Given the description of an element on the screen output the (x, y) to click on. 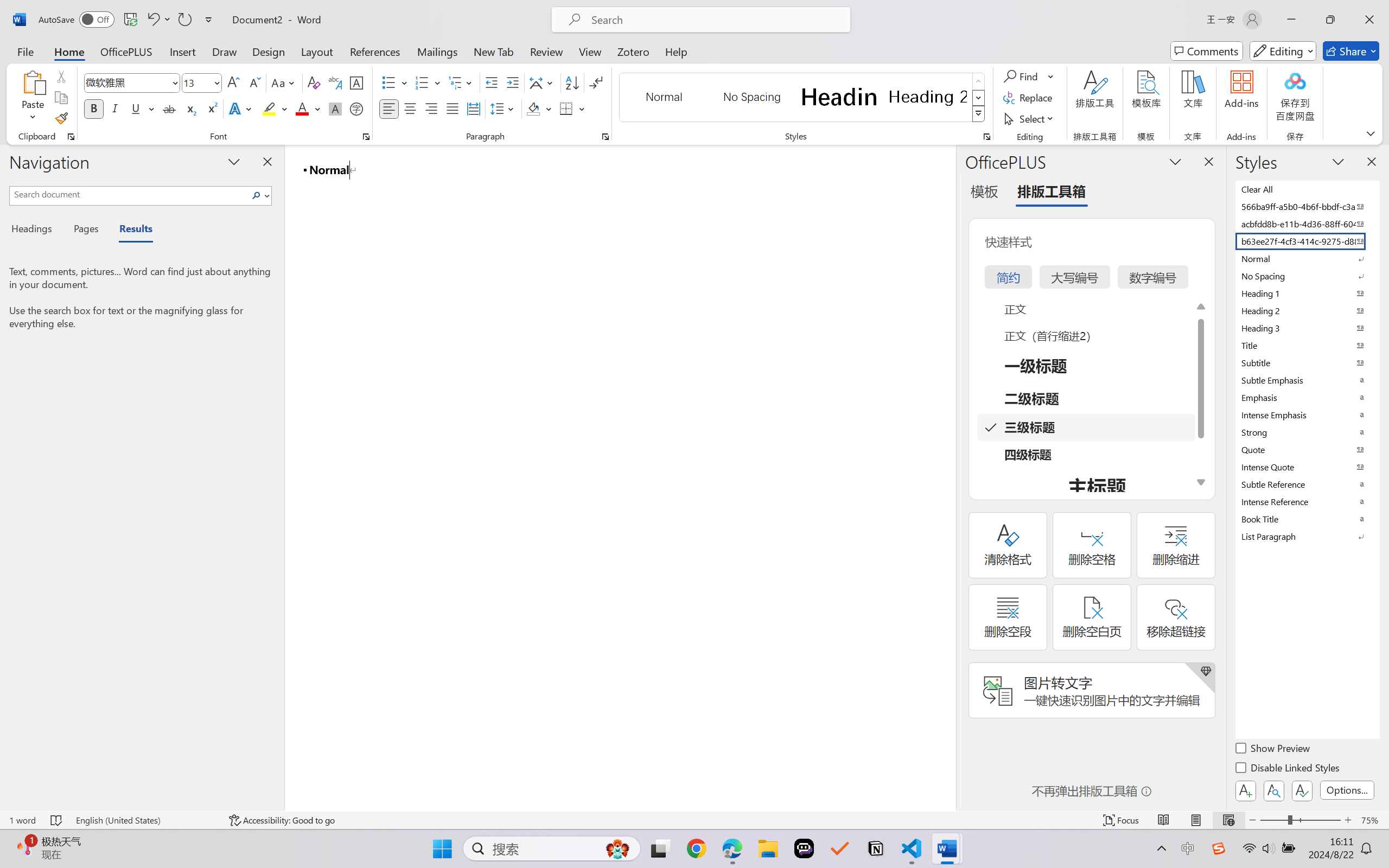
Font Color (308, 108)
Emphasis (1306, 397)
Font Color Red (302, 108)
Text Effects and Typography (241, 108)
Heading 1 (839, 96)
Align Left (388, 108)
Show Preview (1273, 749)
Decrease Indent (491, 82)
Class: NetUIButton (1301, 790)
No Spacing (1306, 275)
